Given the description of an element on the screen output the (x, y) to click on. 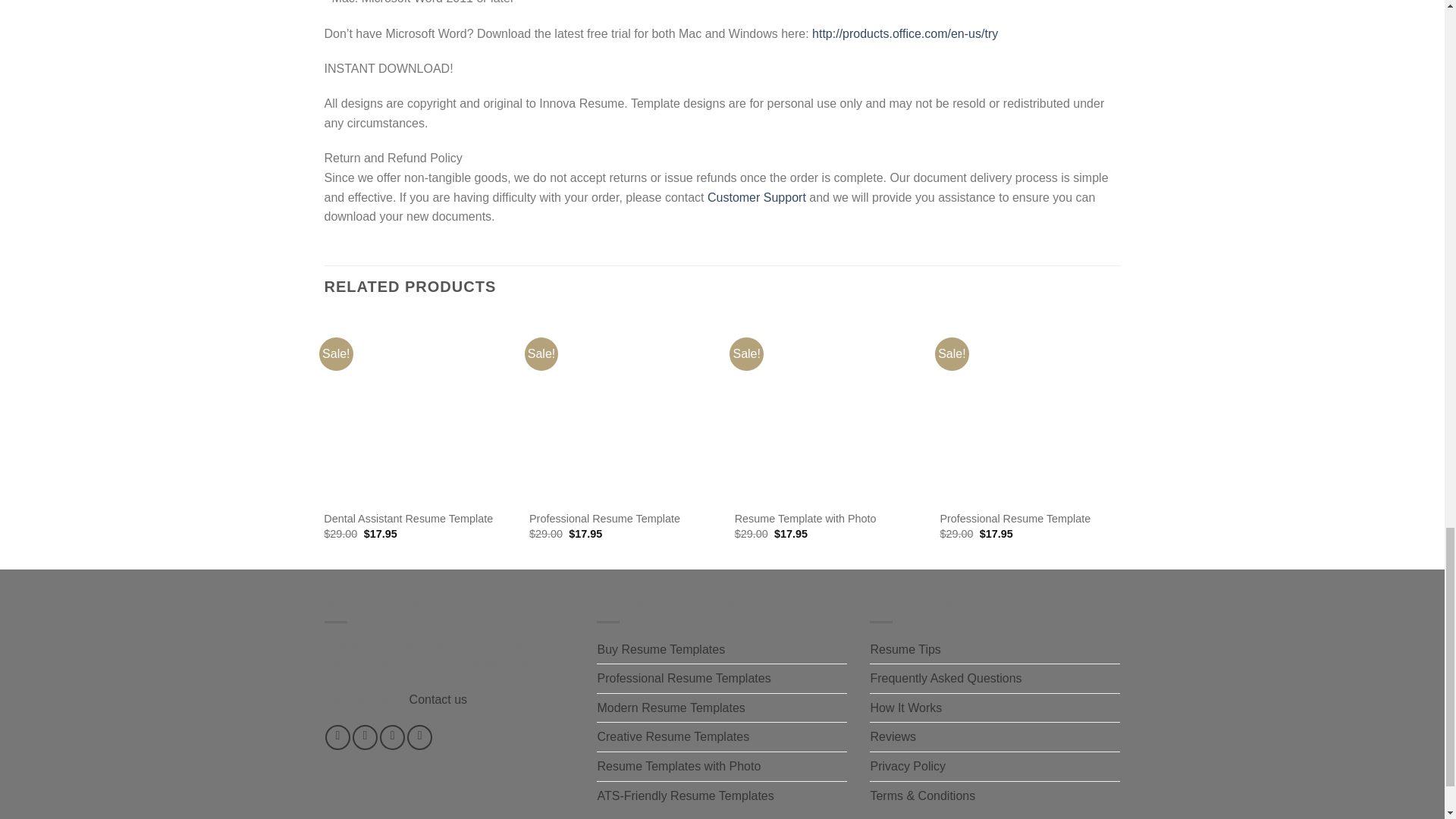
Follow on Pinterest (419, 737)
Follow on Facebook (337, 737)
Follow on Instagram (364, 737)
Follow on Twitter (392, 737)
